Given the description of an element on the screen output the (x, y) to click on. 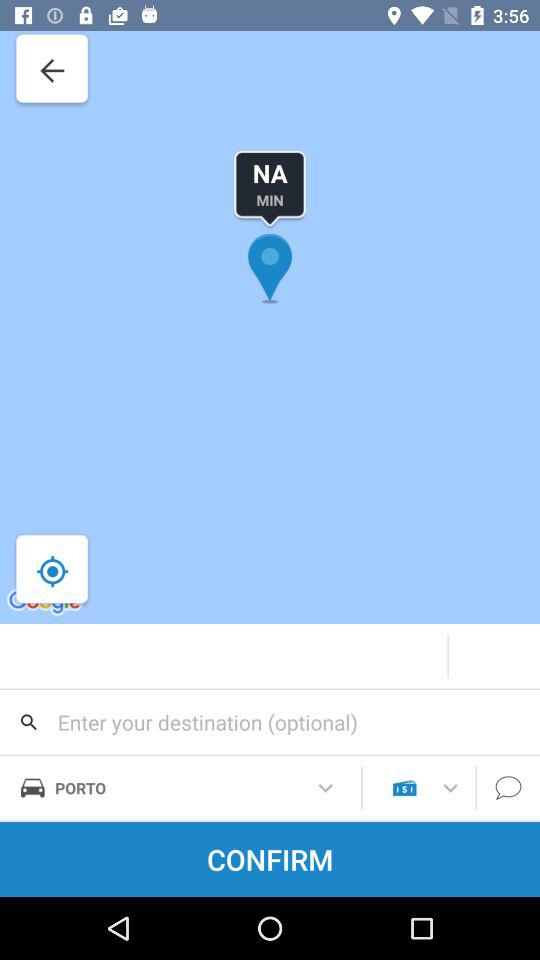
messaging (508, 788)
